Given the description of an element on the screen output the (x, y) to click on. 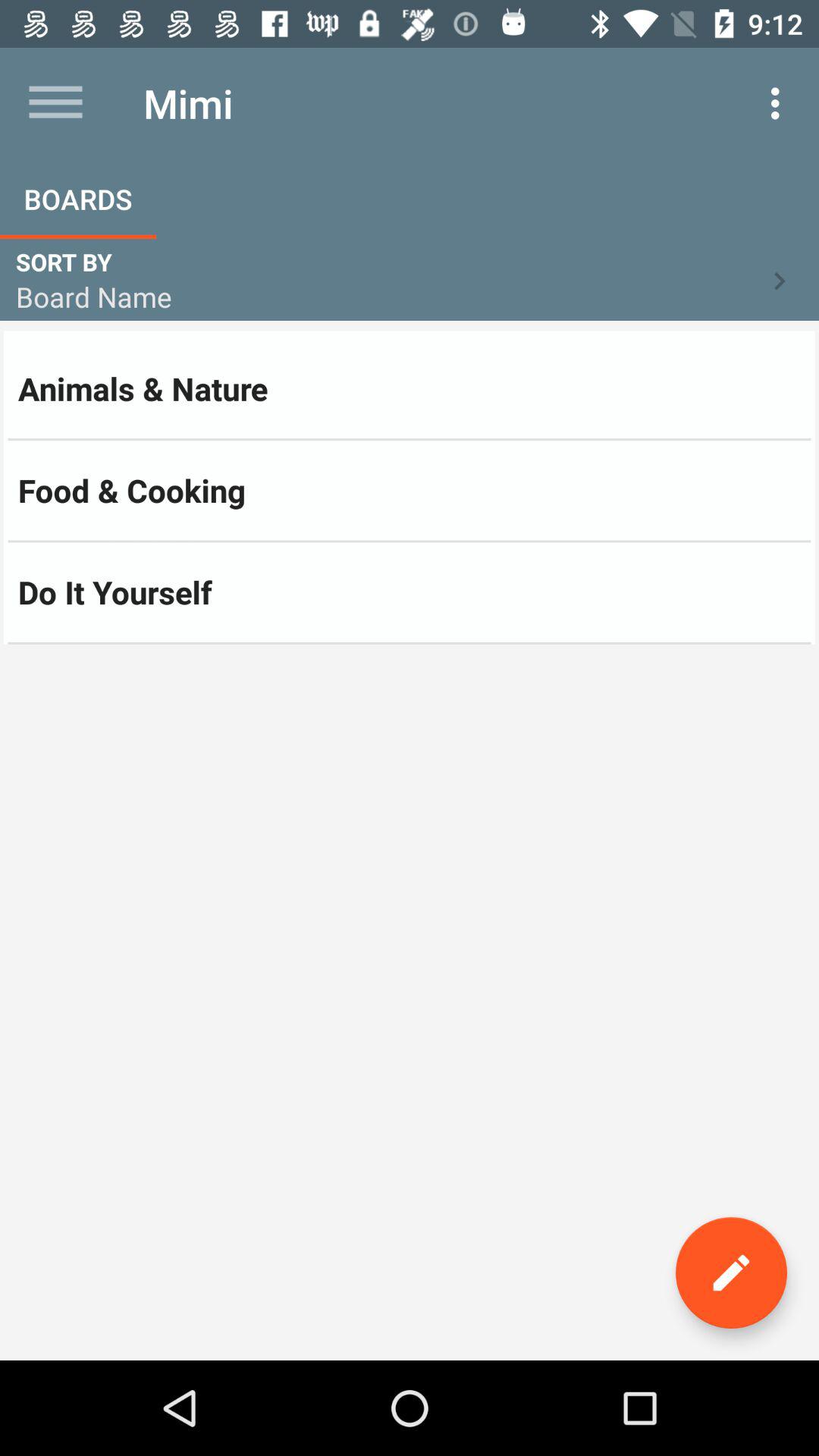
select the item next to the mimi (55, 103)
